Given the description of an element on the screen output the (x, y) to click on. 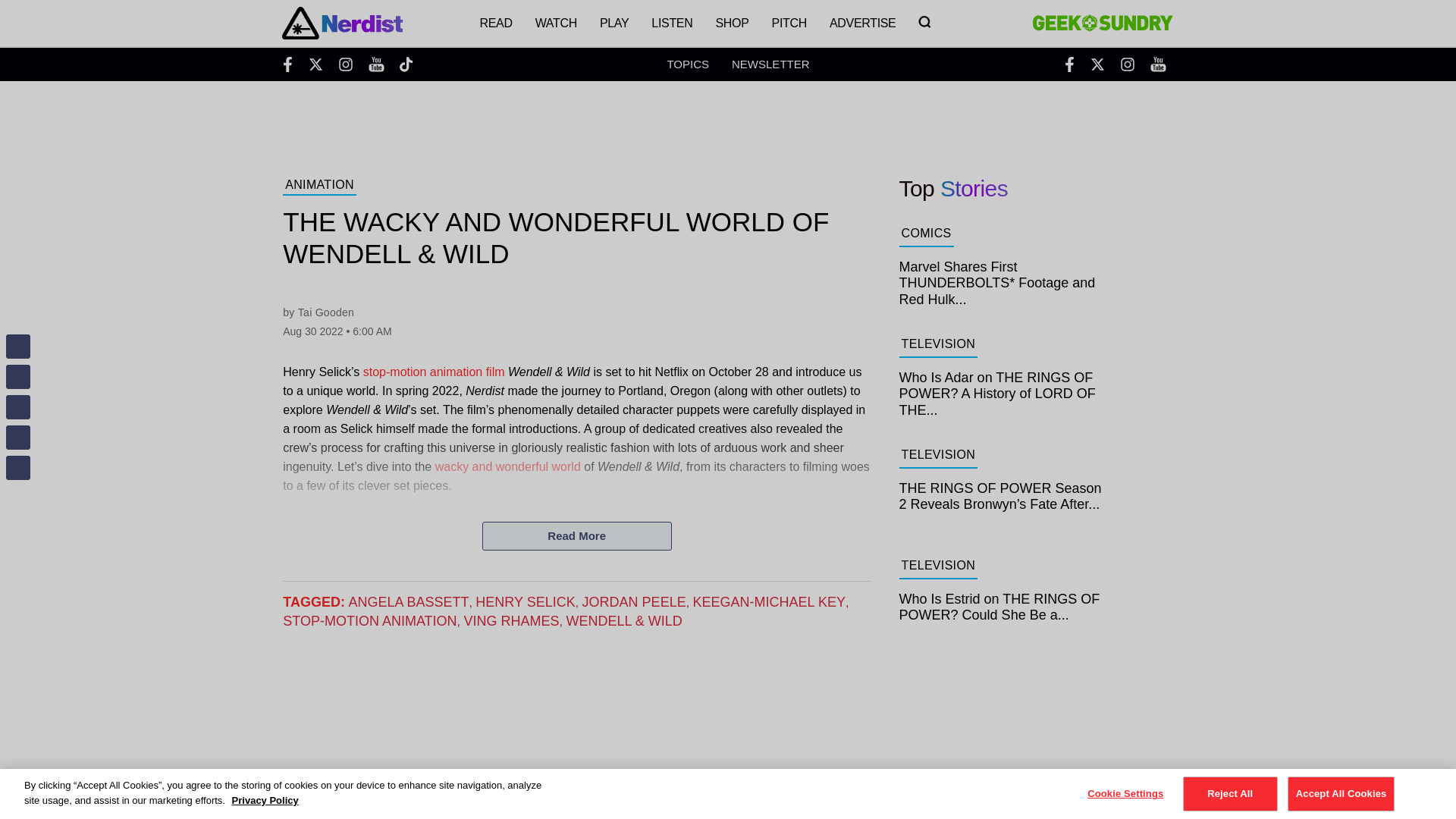
stop-motion animation film (433, 371)
Reject All (1230, 793)
Tai Gooden (325, 312)
ADVERTISE (862, 22)
Instagram Nerdist (345, 63)
Privacy Policy (264, 799)
SHOP (731, 22)
ANIMATION (319, 185)
Accept All Cookies (1340, 793)
VING RHAMES (511, 620)
